Given the description of an element on the screen output the (x, y) to click on. 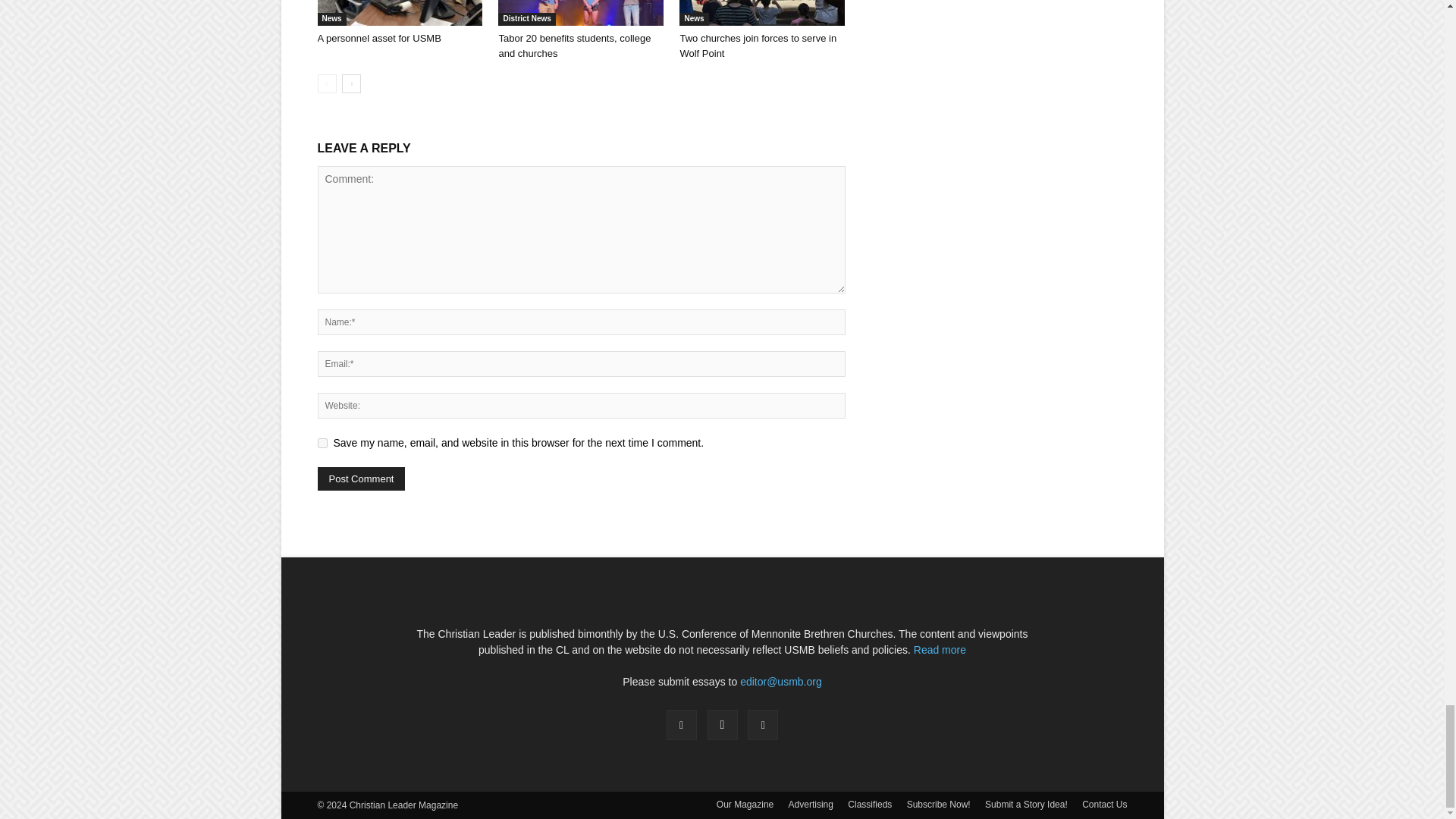
Post Comment (360, 478)
yes (321, 442)
